Given the description of an element on the screen output the (x, y) to click on. 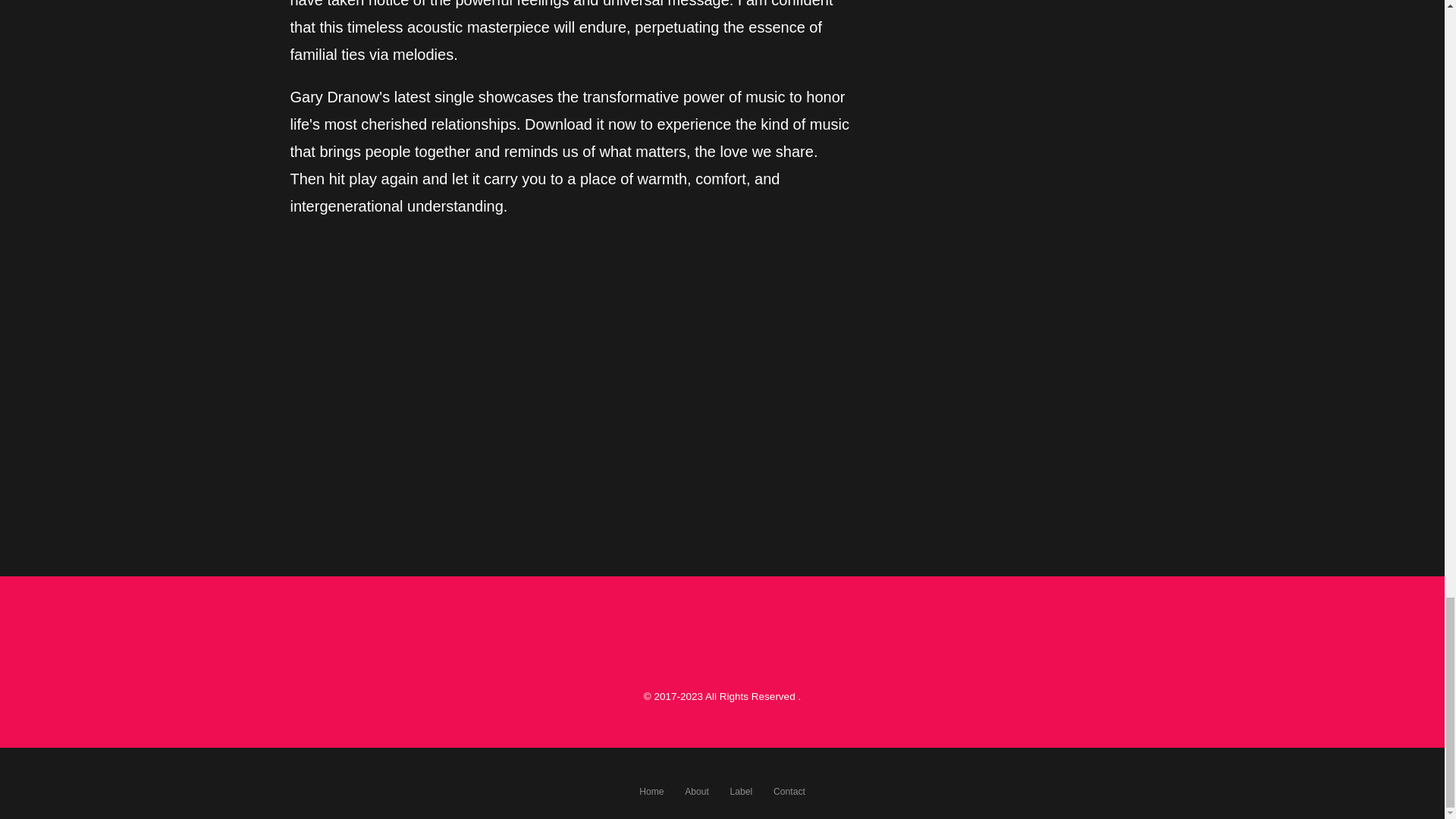
Contact (789, 791)
Label (741, 791)
Home (651, 791)
About (696, 791)
